Given the description of an element on the screen output the (x, y) to click on. 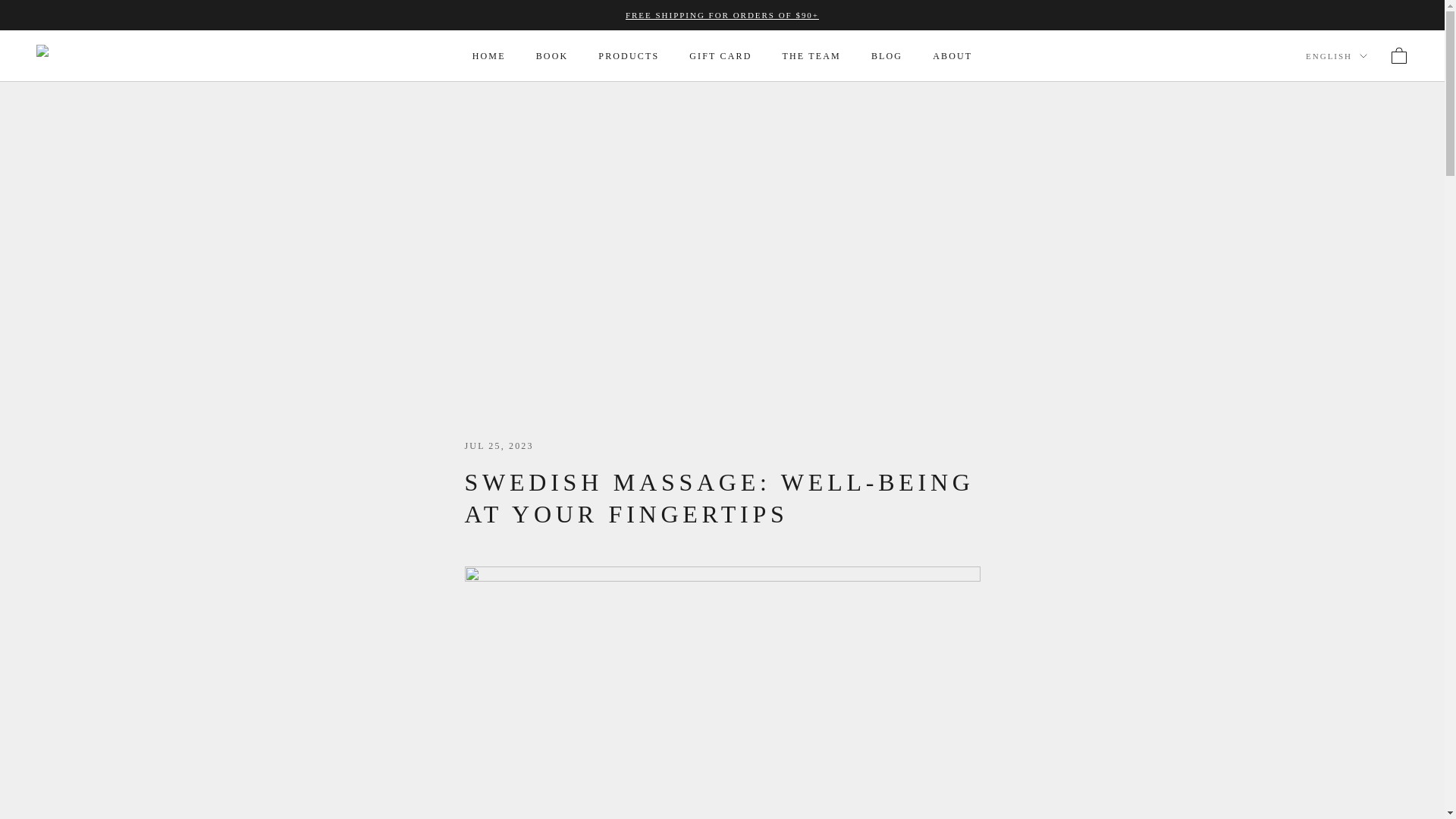
PRODUCTS (628, 55)
BOOK (552, 55)
HOME (488, 55)
GIFT CARD (719, 55)
THE TEAM (812, 55)
BLOG (886, 55)
Open cart (1398, 55)
ENGLISH (1336, 56)
